Given the description of an element on the screen output the (x, y) to click on. 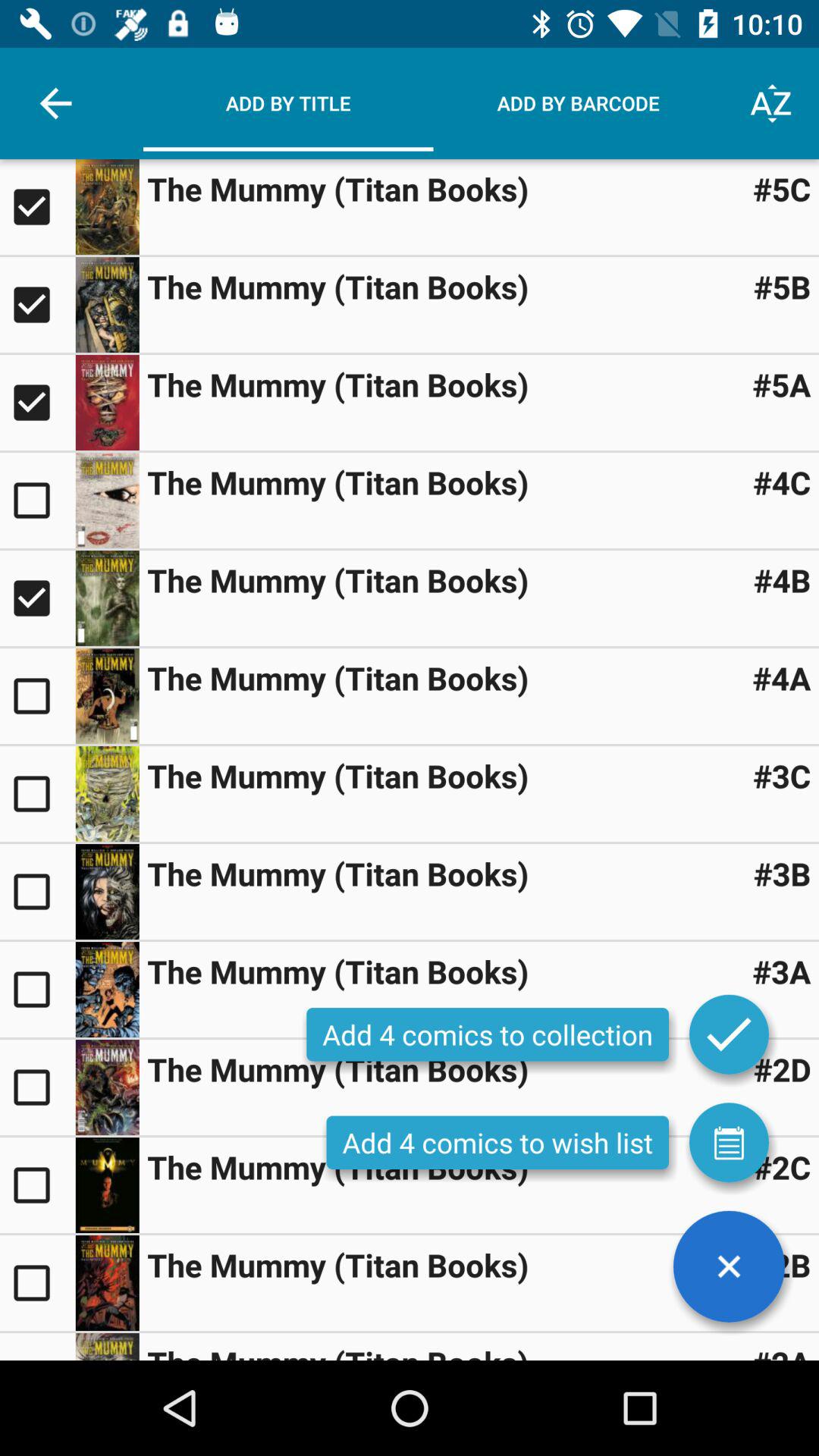
add items to wish list (729, 1142)
